Given the description of an element on the screen output the (x, y) to click on. 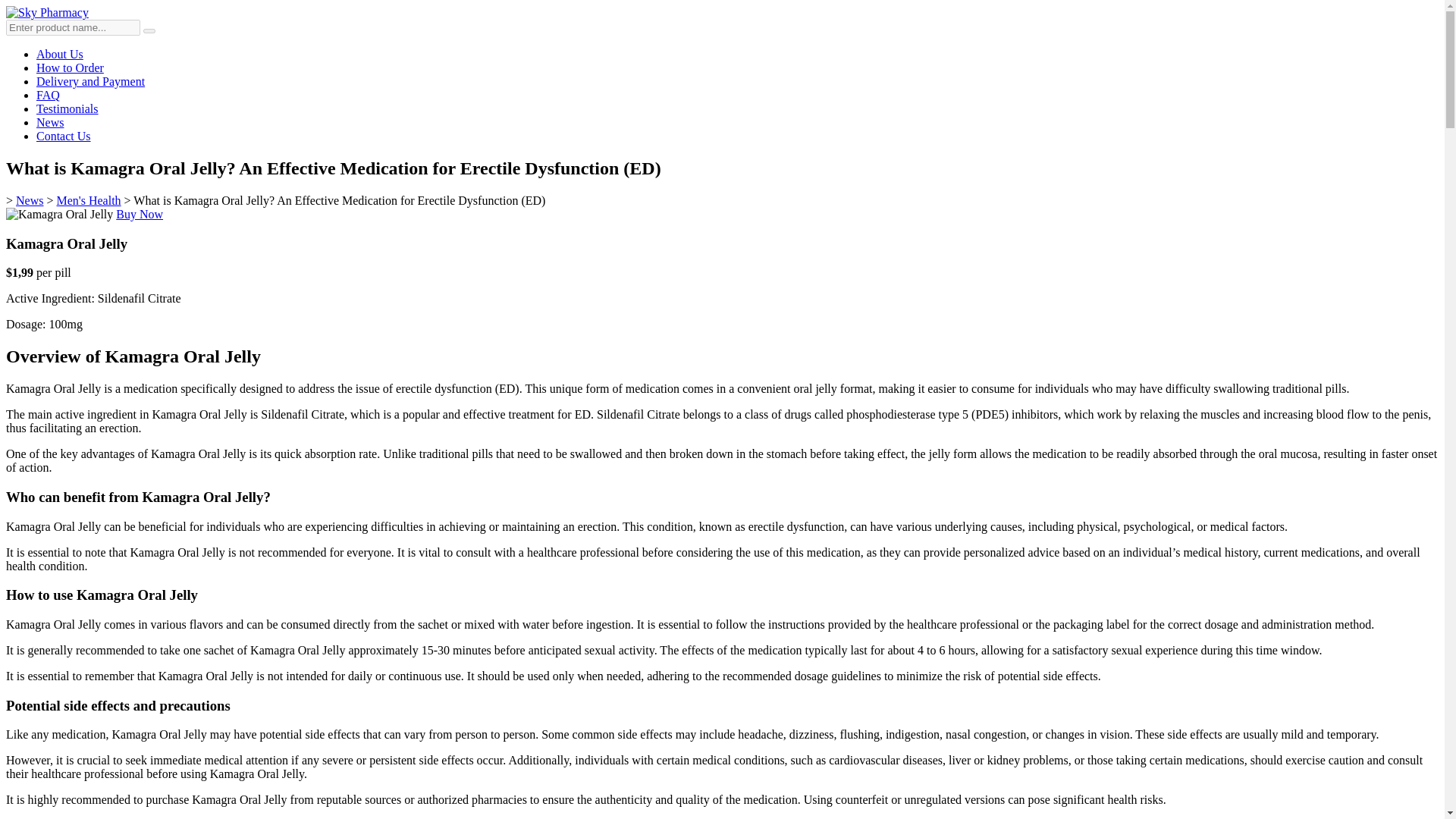
Testimonials (67, 108)
Delivery and Payment (90, 81)
News (29, 200)
About Us (59, 53)
FAQ (47, 94)
How to Order (69, 67)
Contact Us (63, 135)
Men's Health (88, 200)
Buy Now (139, 214)
Go to News. (29, 200)
